Given the description of an element on the screen output the (x, y) to click on. 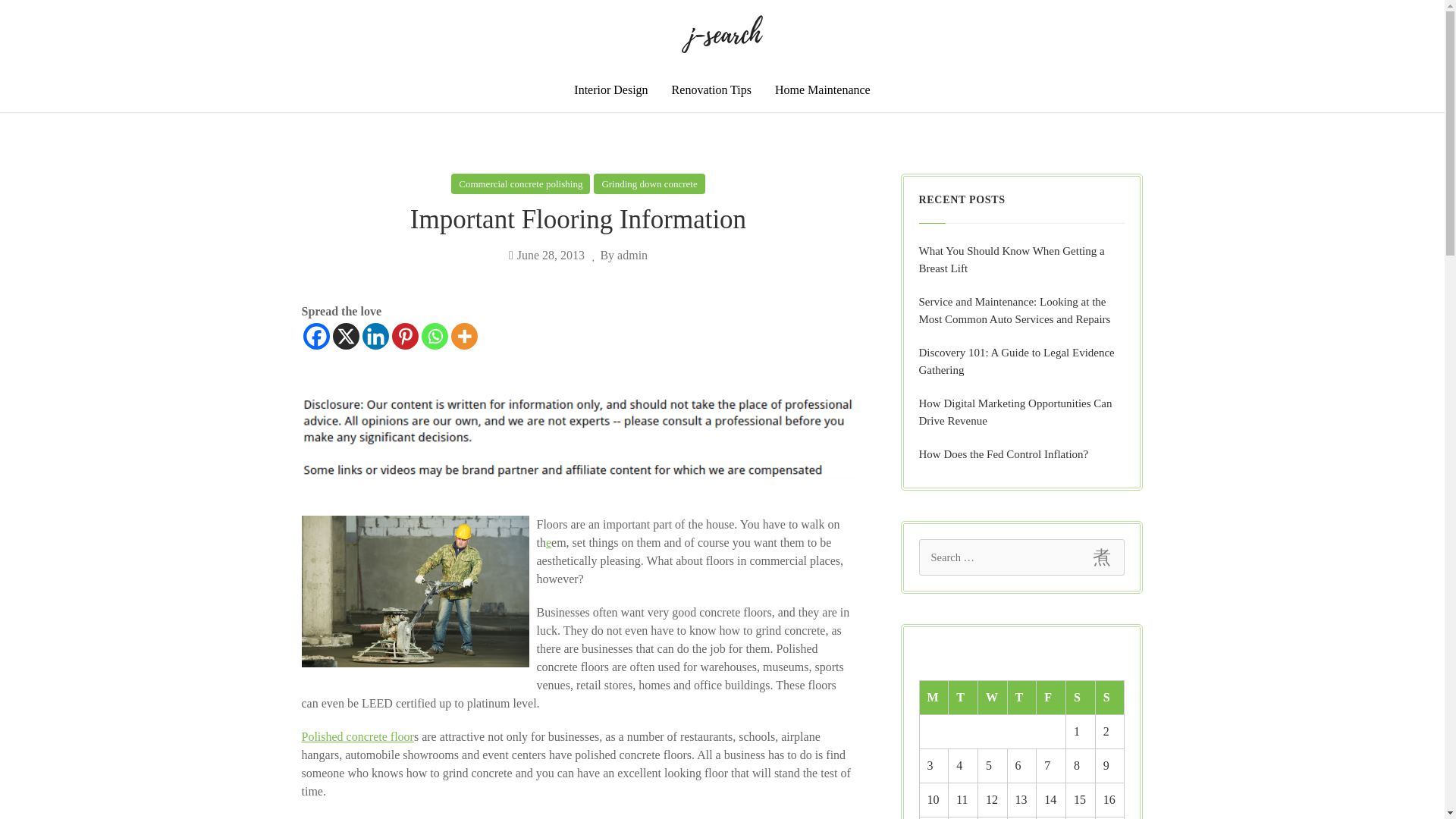
June 28, 2013 (546, 255)
Interior Design (610, 89)
More (463, 335)
Pinterest (404, 335)
Grinding down concrete (649, 183)
Polished concrete process, Concrete polished floors (357, 736)
X (344, 335)
Home Maintenance (822, 89)
Facebook (316, 335)
Polished concrete floor (357, 736)
Renovation Tips (711, 89)
Commercial concrete polishing (520, 183)
Whatsapp (435, 335)
Home Maintenance (822, 89)
Linkedin (375, 335)
